Given the description of an element on the screen output the (x, y) to click on. 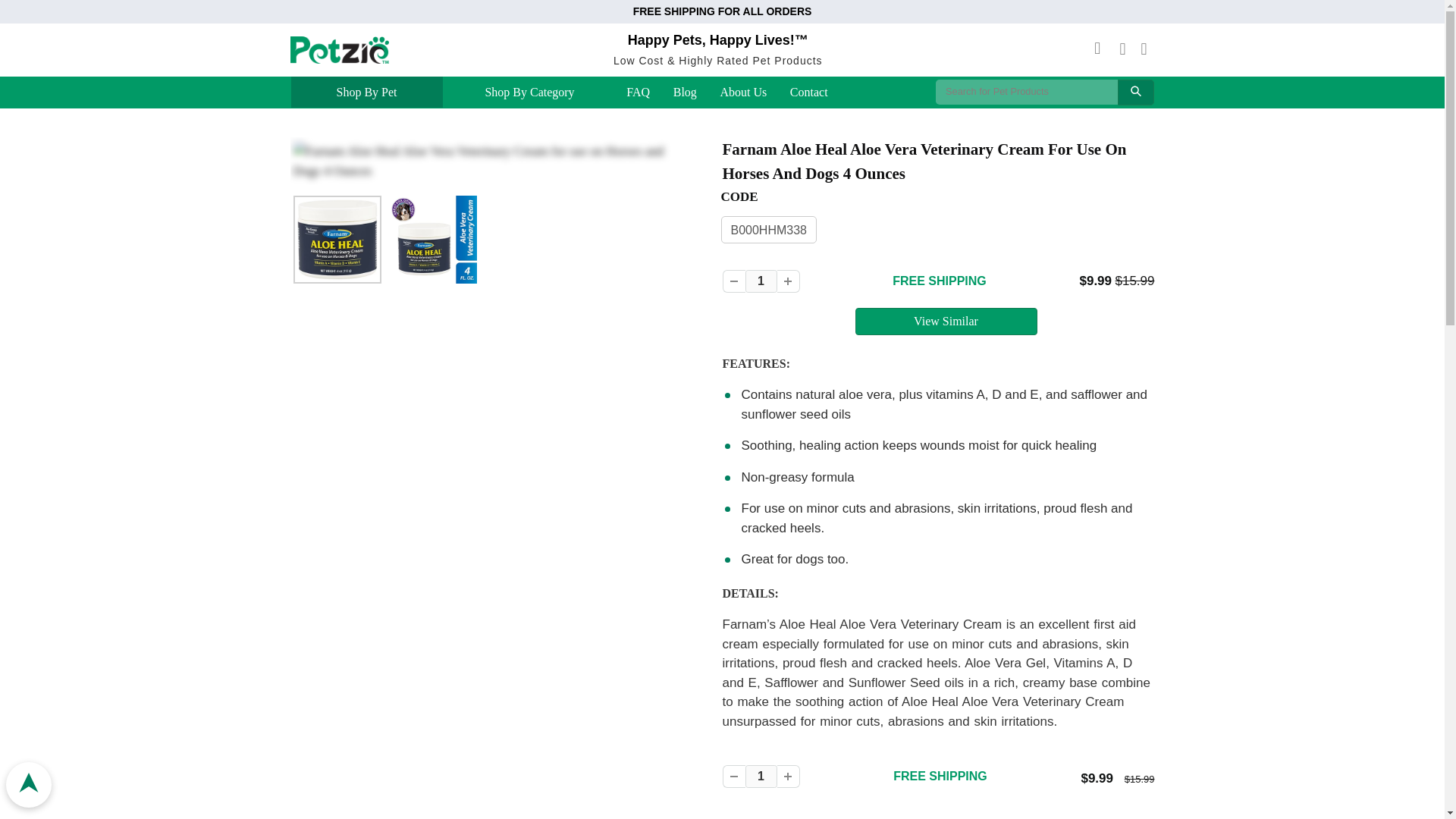
1 (760, 775)
Shop By Pet (366, 92)
1 (760, 281)
